Given the description of an element on the screen output the (x, y) to click on. 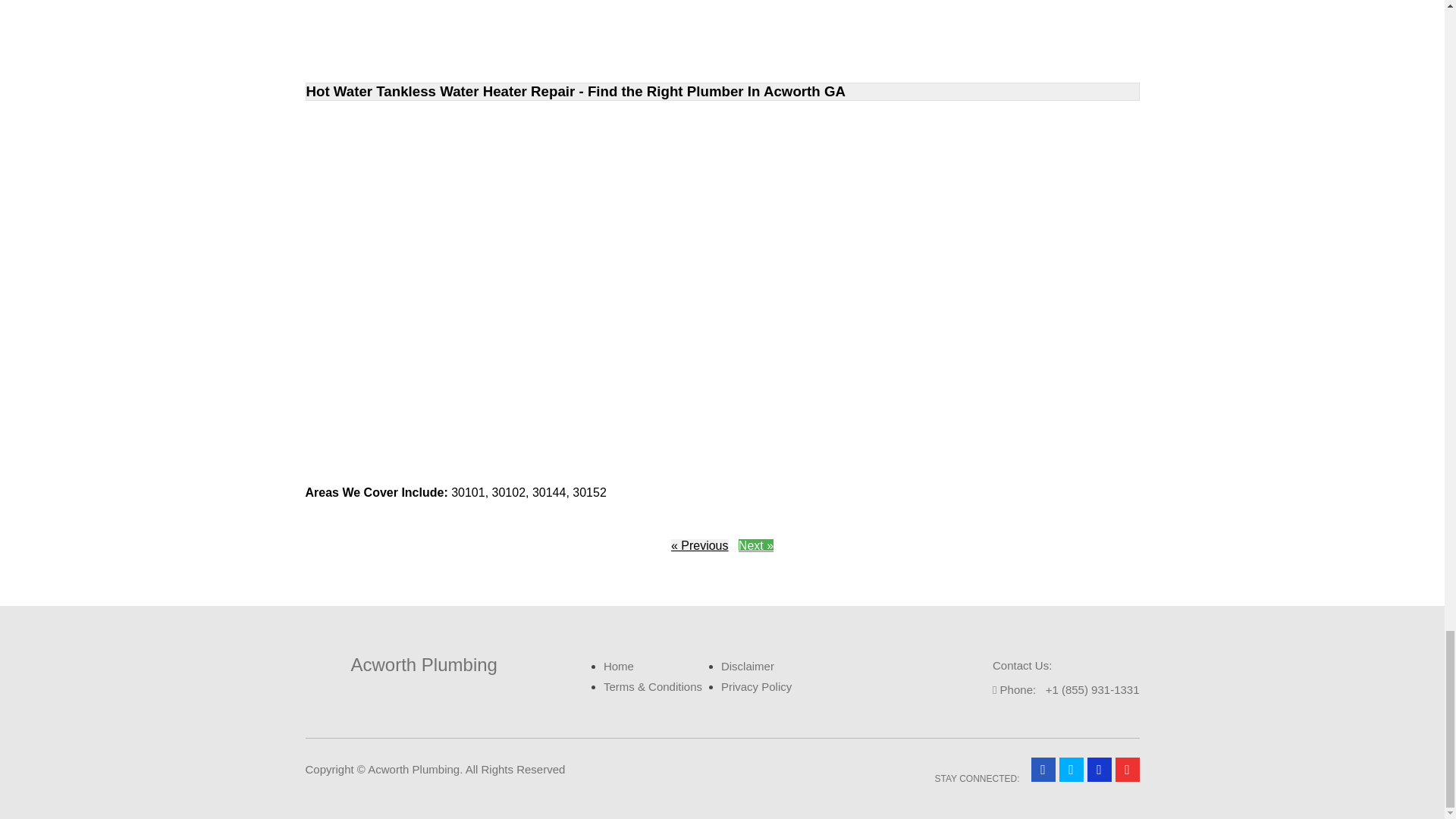
Home (618, 666)
Acworth Plumbing (400, 664)
Privacy Policy (756, 686)
Disclaimer (747, 666)
